Given the description of an element on the screen output the (x, y) to click on. 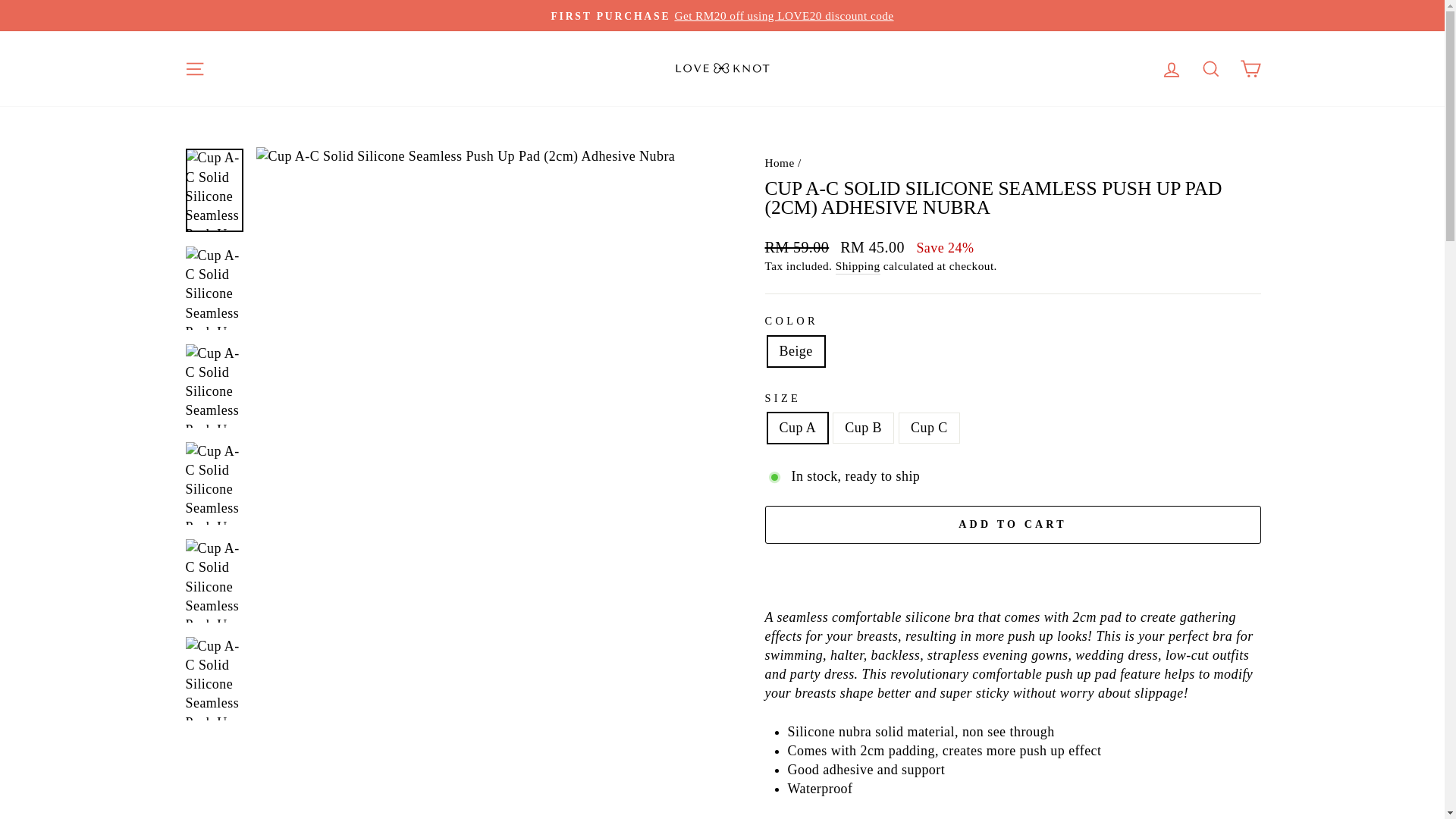
FIRST PURCHASEGet RM20 off using LOVE20 discount code (722, 15)
Back to the frontpage (778, 162)
LOG IN (1171, 69)
SITE NAVIGATION (194, 69)
